Given the description of an element on the screen output the (x, y) to click on. 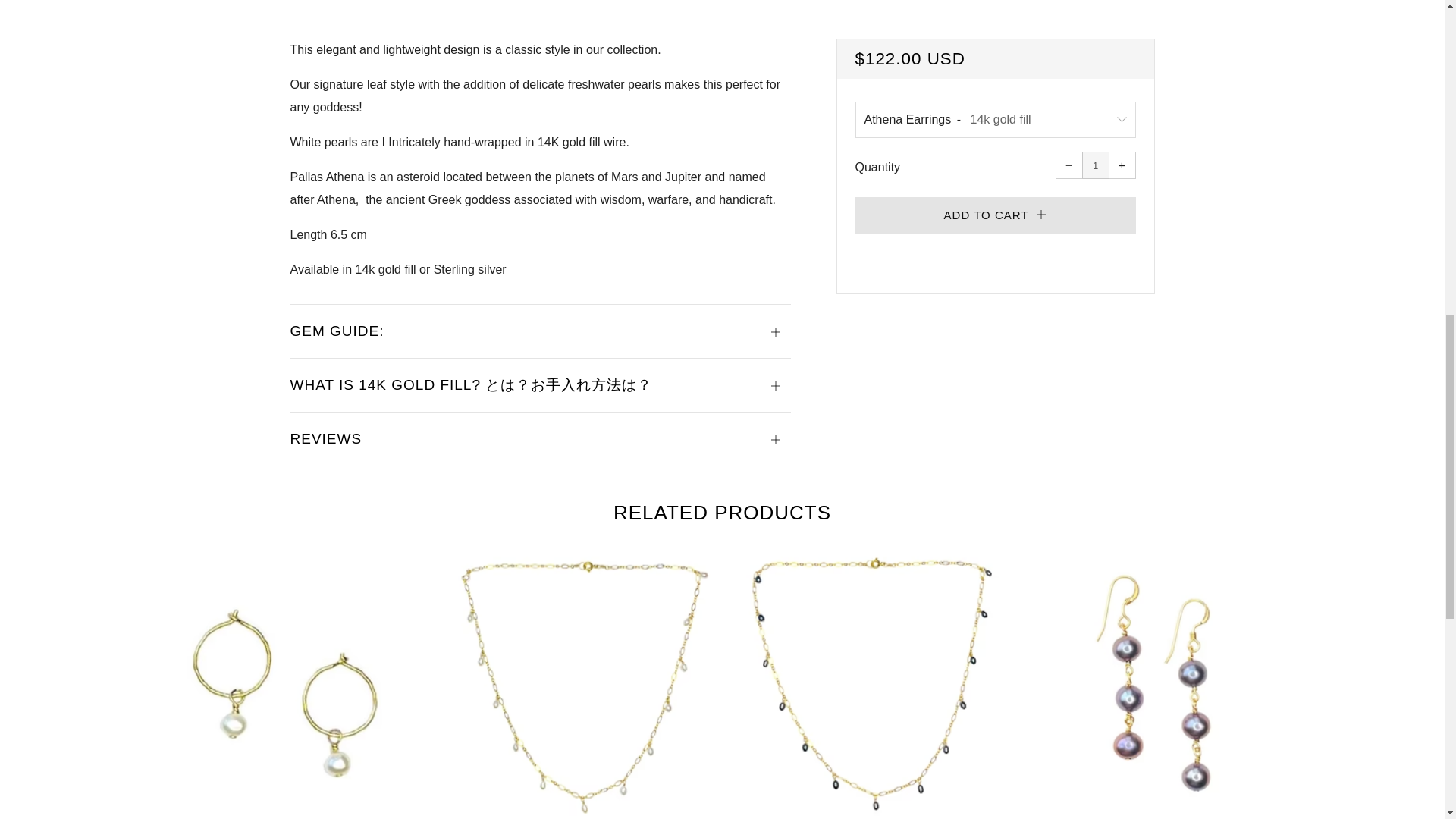
Pele Necklace (869, 680)
1 (1094, 165)
Itsy Bitsy White Pearl (280, 680)
Polihale Necklace (574, 680)
Honopu Black Pearl Earrings (1164, 680)
